Given the description of an element on the screen output the (x, y) to click on. 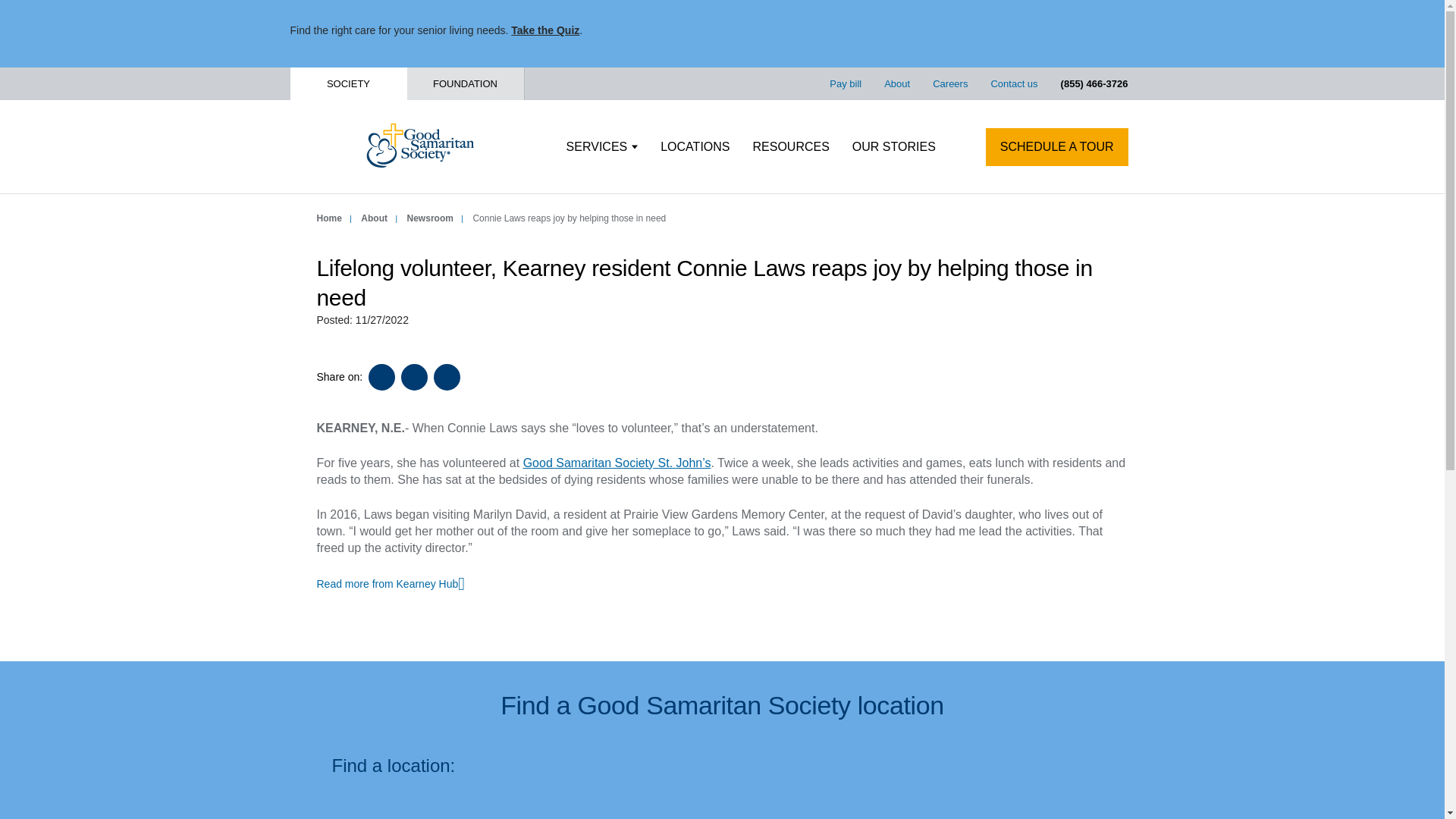
Home (329, 217)
Newsroom (429, 217)
Take the Quiz (545, 30)
SOCIETY (347, 83)
Linkedin share (446, 376)
About (374, 217)
RESOURCES (790, 146)
SERVICES (602, 146)
FOUNDATION (464, 83)
Newsroom (429, 217)
LOCATIONS (695, 146)
SCHEDULE A TOUR (1056, 146)
Read more from Kearney Hub (391, 583)
Pay bill (845, 83)
Home (329, 217)
